Given the description of an element on the screen output the (x, y) to click on. 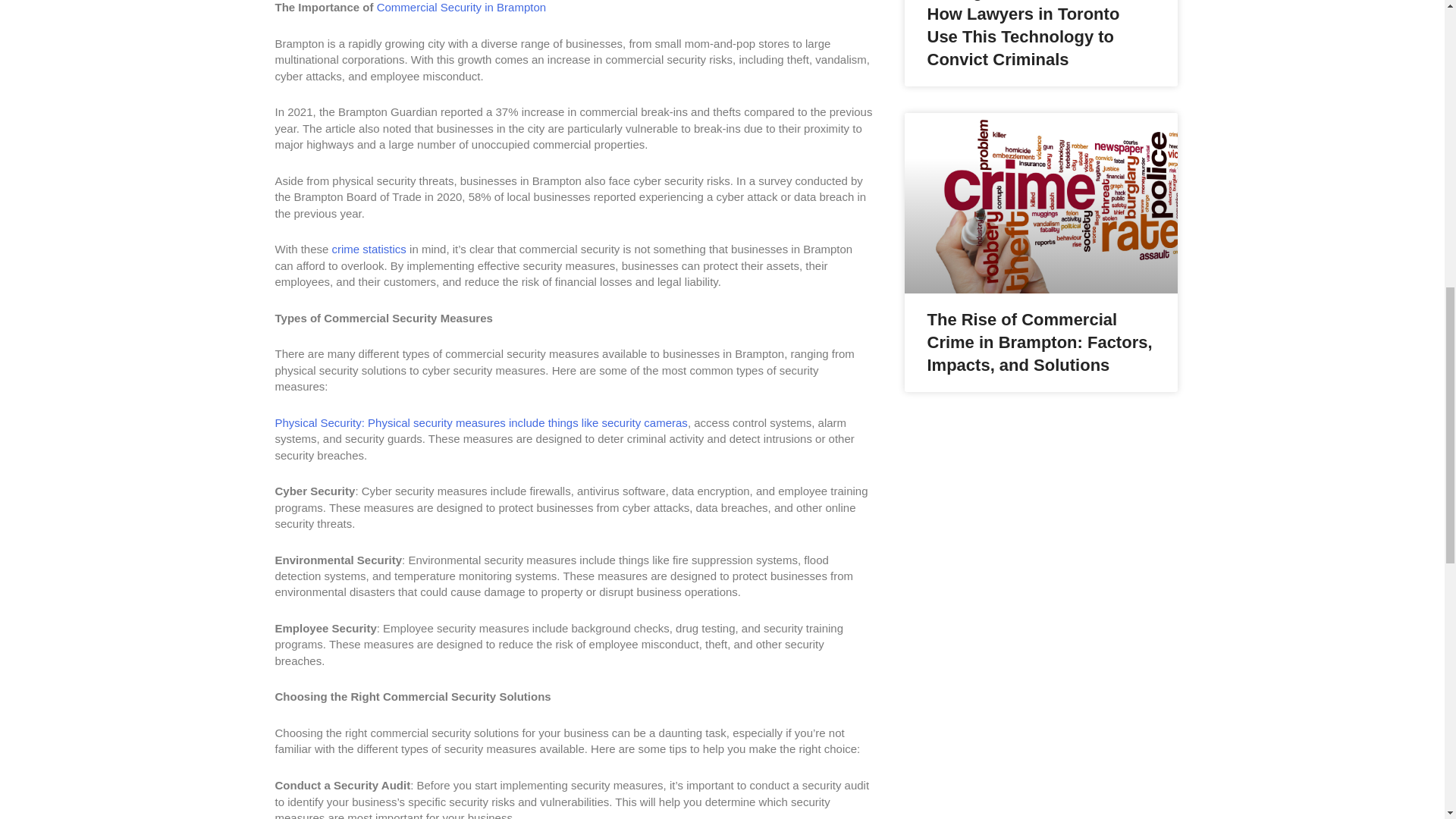
Police-reported crime statistics in Canada, 2020 (368, 248)
